Given the description of an element on the screen output the (x, y) to click on. 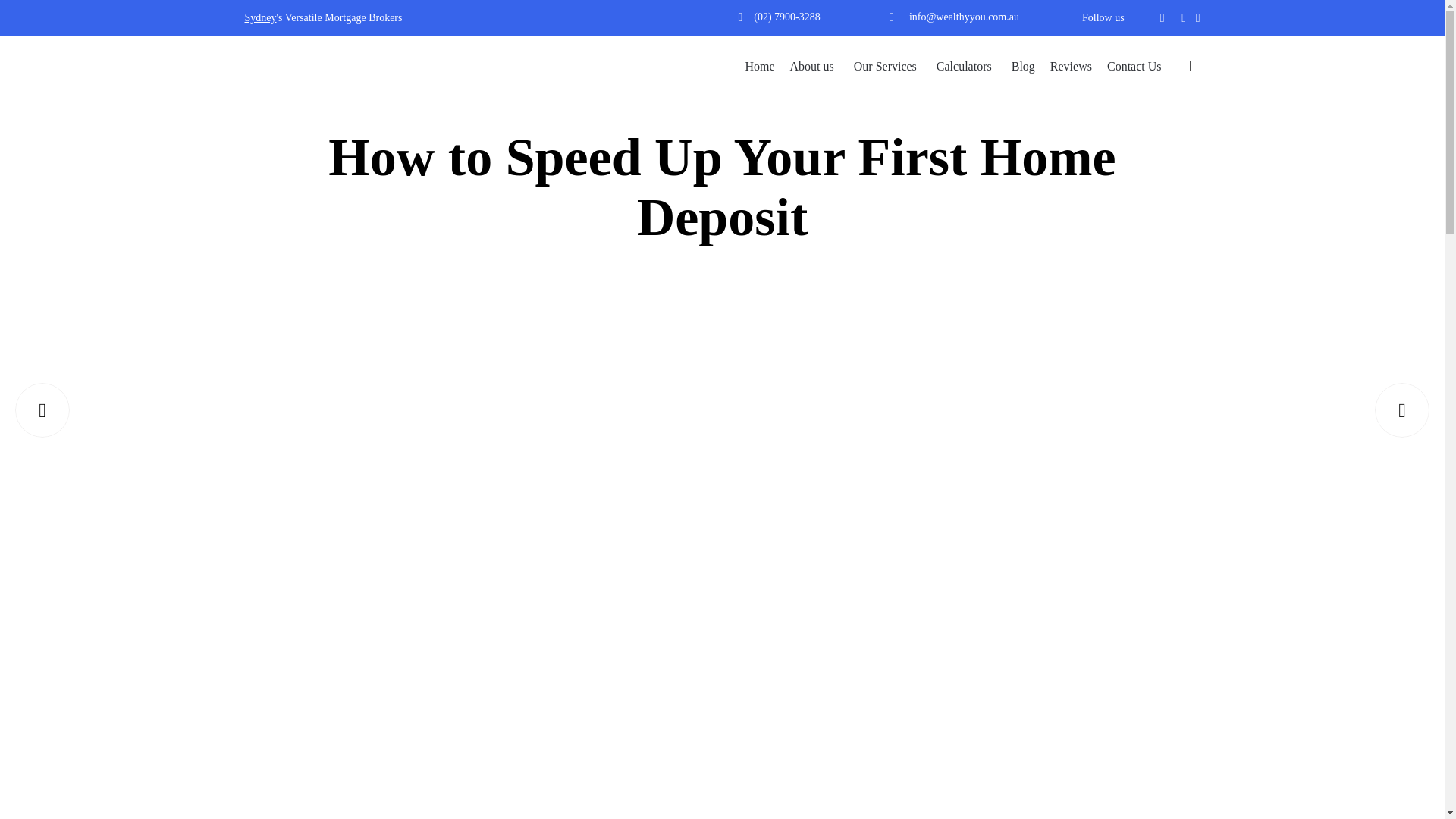
Our Services (886, 66)
Home (758, 66)
Reviews (1070, 66)
Sydney (260, 18)
Calculators (966, 66)
Wealthy You (338, 66)
About us (814, 66)
Contact Us (1134, 66)
Blog (1023, 66)
